Given the description of an element on the screen output the (x, y) to click on. 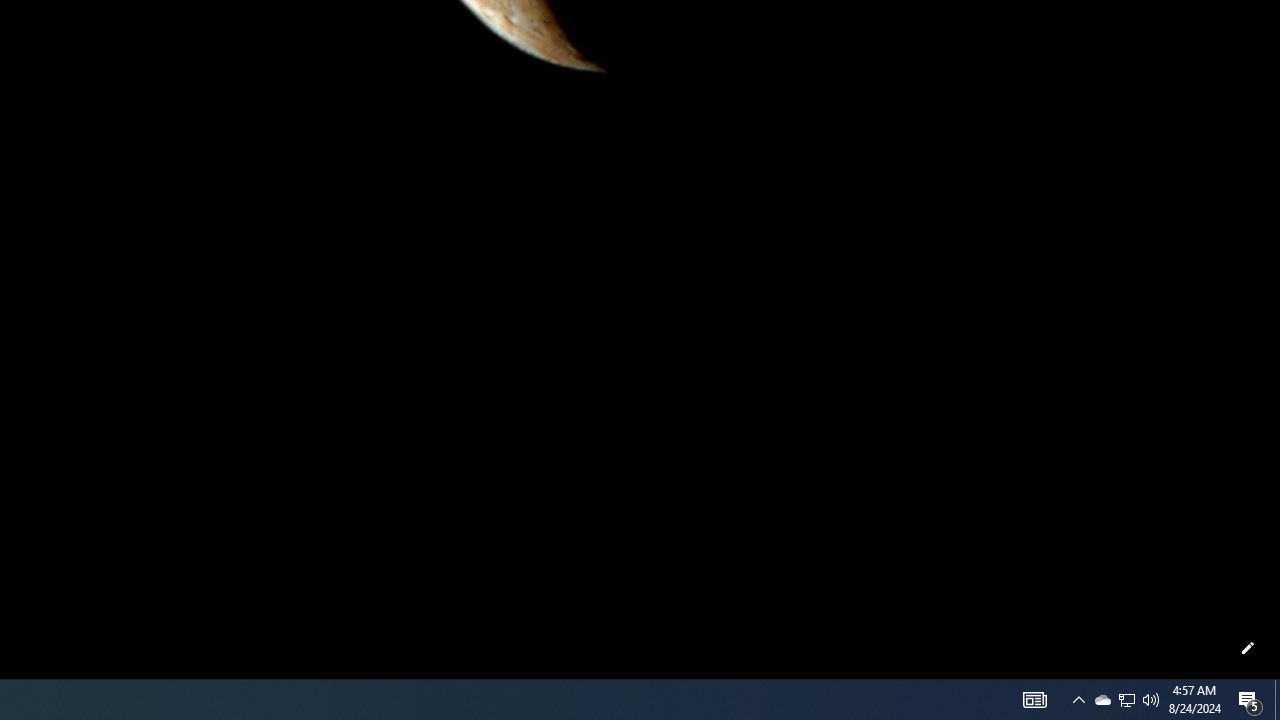
Customize this page (1247, 647)
